Given the description of an element on the screen output the (x, y) to click on. 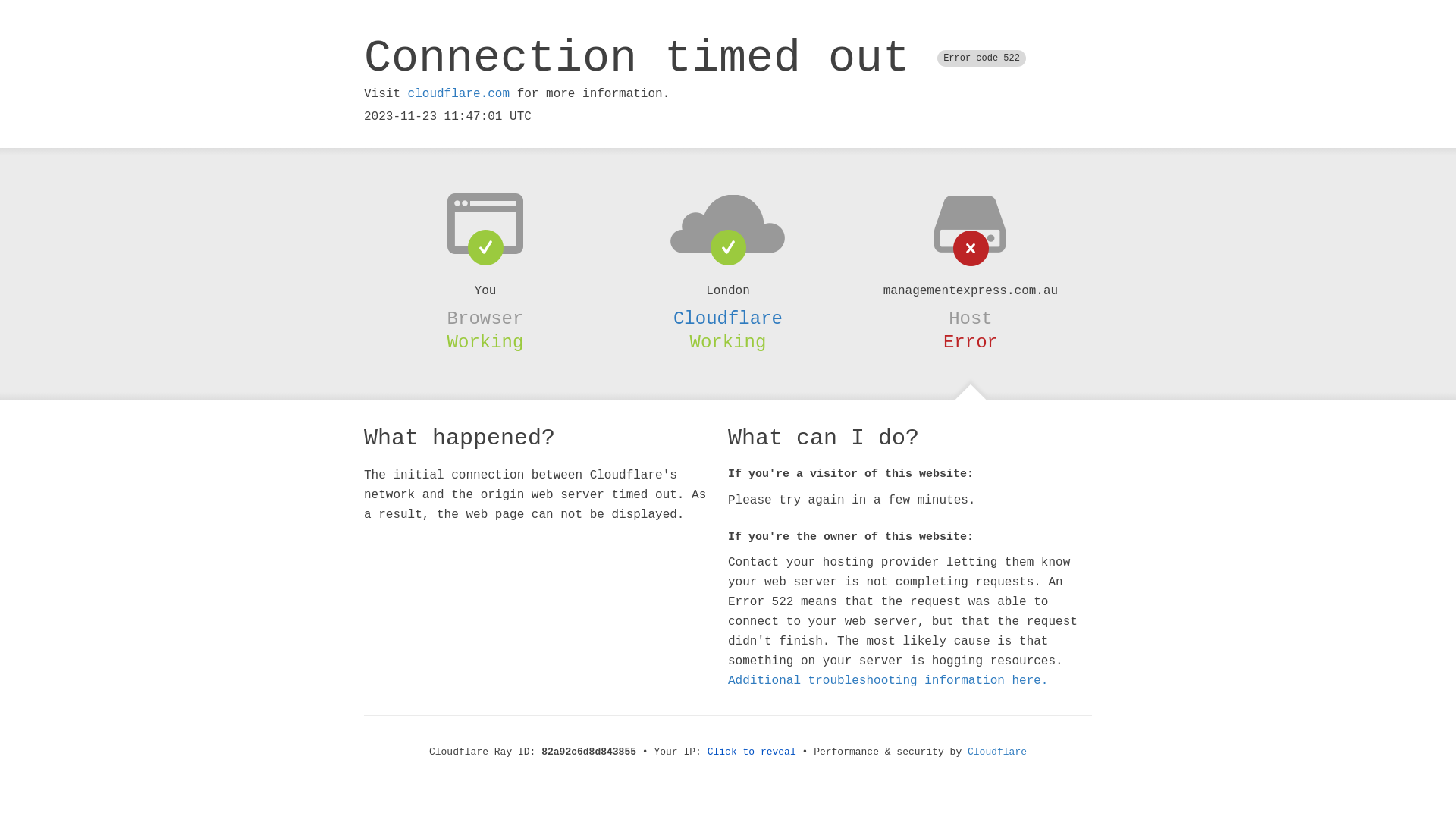
Cloudflare Element type: text (996, 751)
Cloudflare Element type: text (727, 318)
cloudflare.com Element type: text (458, 93)
Additional troubleshooting information here. Element type: text (888, 680)
Click to reveal Element type: text (751, 751)
